Given the description of an element on the screen output the (x, y) to click on. 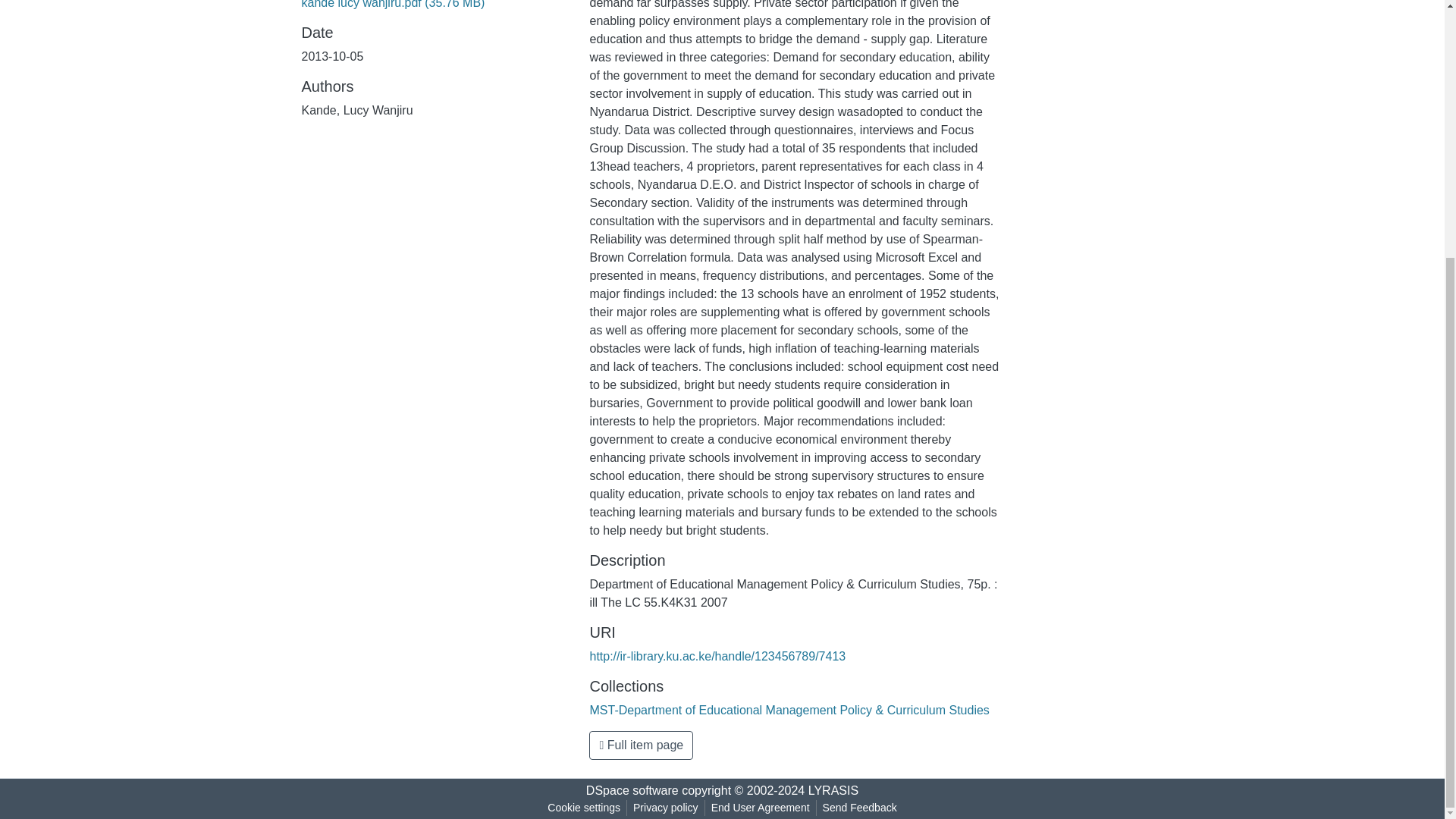
Send Feedback (859, 807)
DSpace software (632, 789)
Cookie settings (583, 807)
Privacy policy (665, 807)
Full item page (641, 745)
LYRASIS (833, 789)
End User Agreement (759, 807)
